Given the description of an element on the screen output the (x, y) to click on. 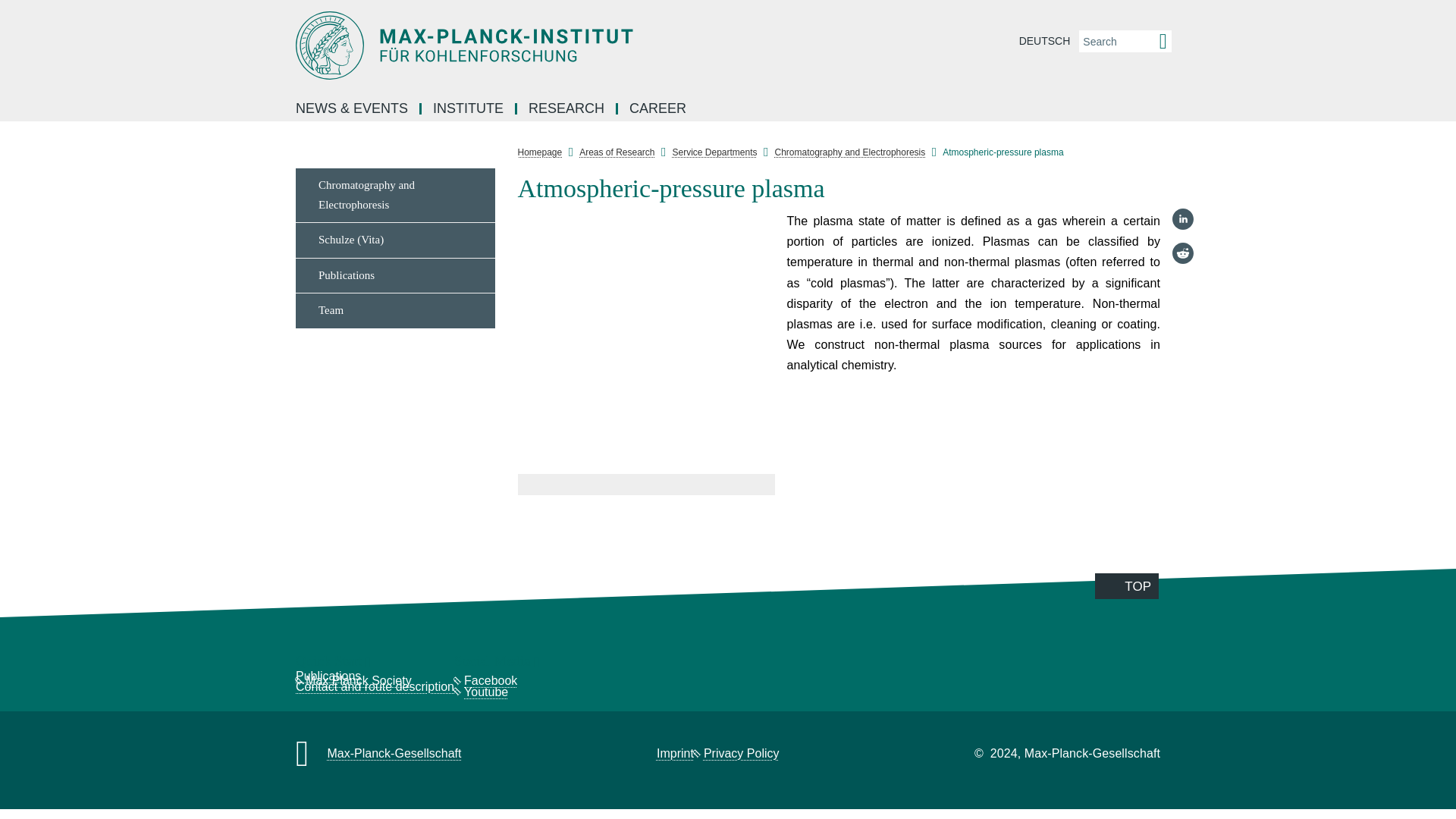
Twitter (1182, 287)
Print (1182, 389)
LinkedIn (1182, 219)
INSTITUTE (469, 108)
opens zoom view (645, 342)
DEUTSCH (1044, 41)
Reddit (1182, 252)
Xing (1182, 321)
E-Mail (1182, 354)
RESEARCH (566, 108)
